Given the description of an element on the screen output the (x, y) to click on. 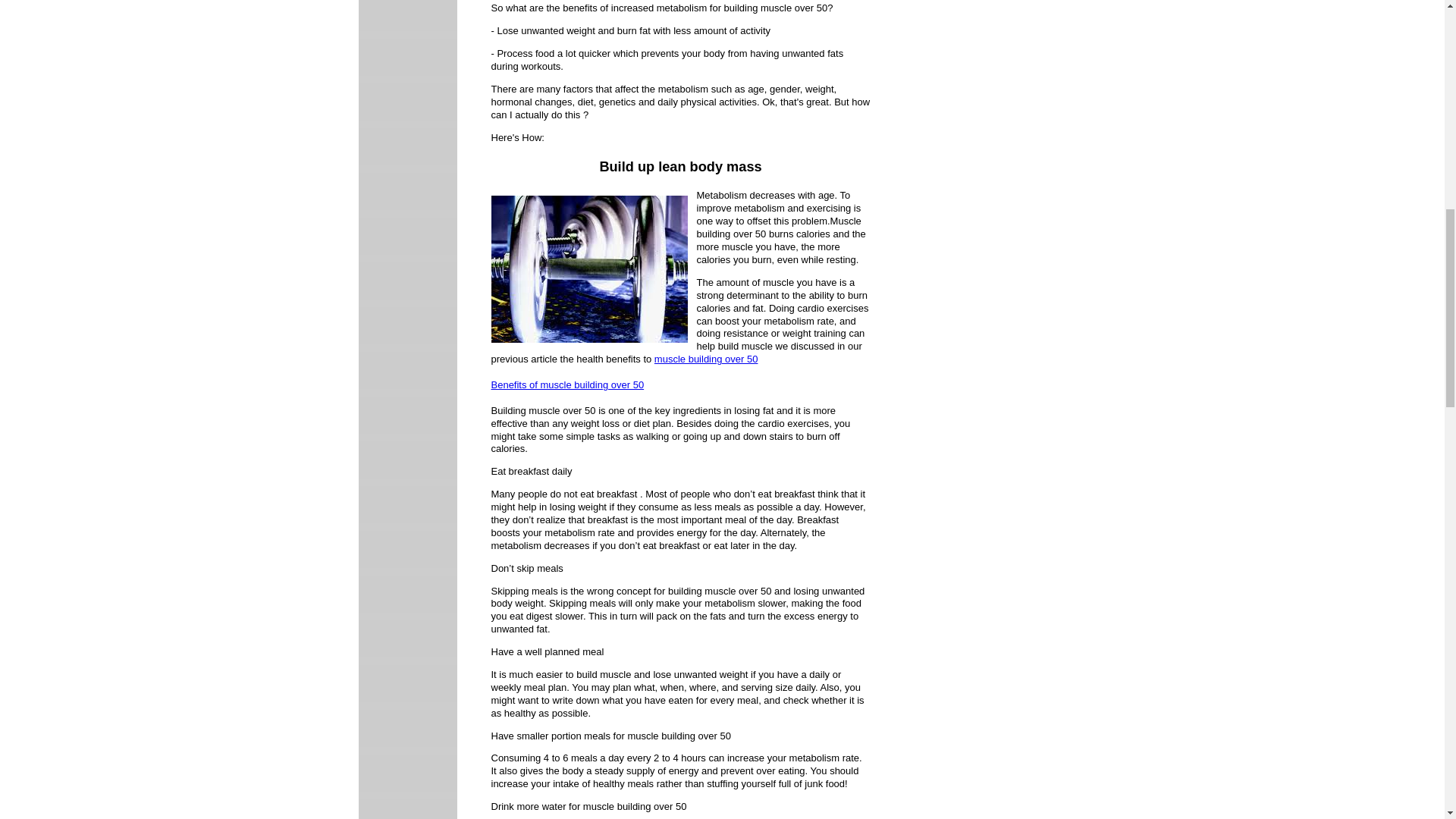
Benefits of muscle building over 50 (568, 384)
muscle building over 50 (705, 358)
